Given the description of an element on the screen output the (x, y) to click on. 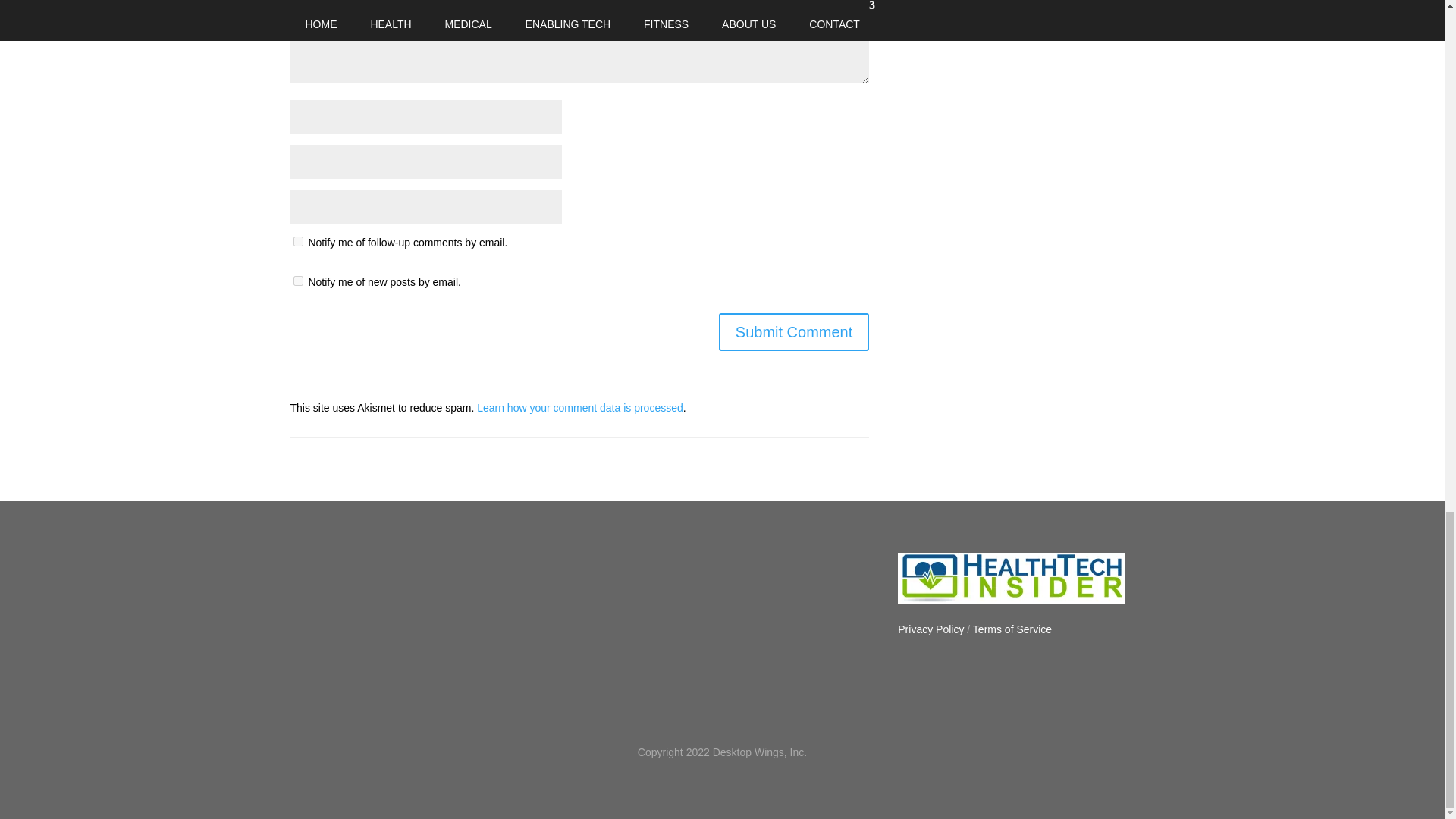
subscribe (297, 241)
Submit Comment (794, 331)
Learn how your comment data is processed (579, 408)
subscribe (297, 280)
Submit Comment (794, 331)
